Given the description of an element on the screen output the (x, y) to click on. 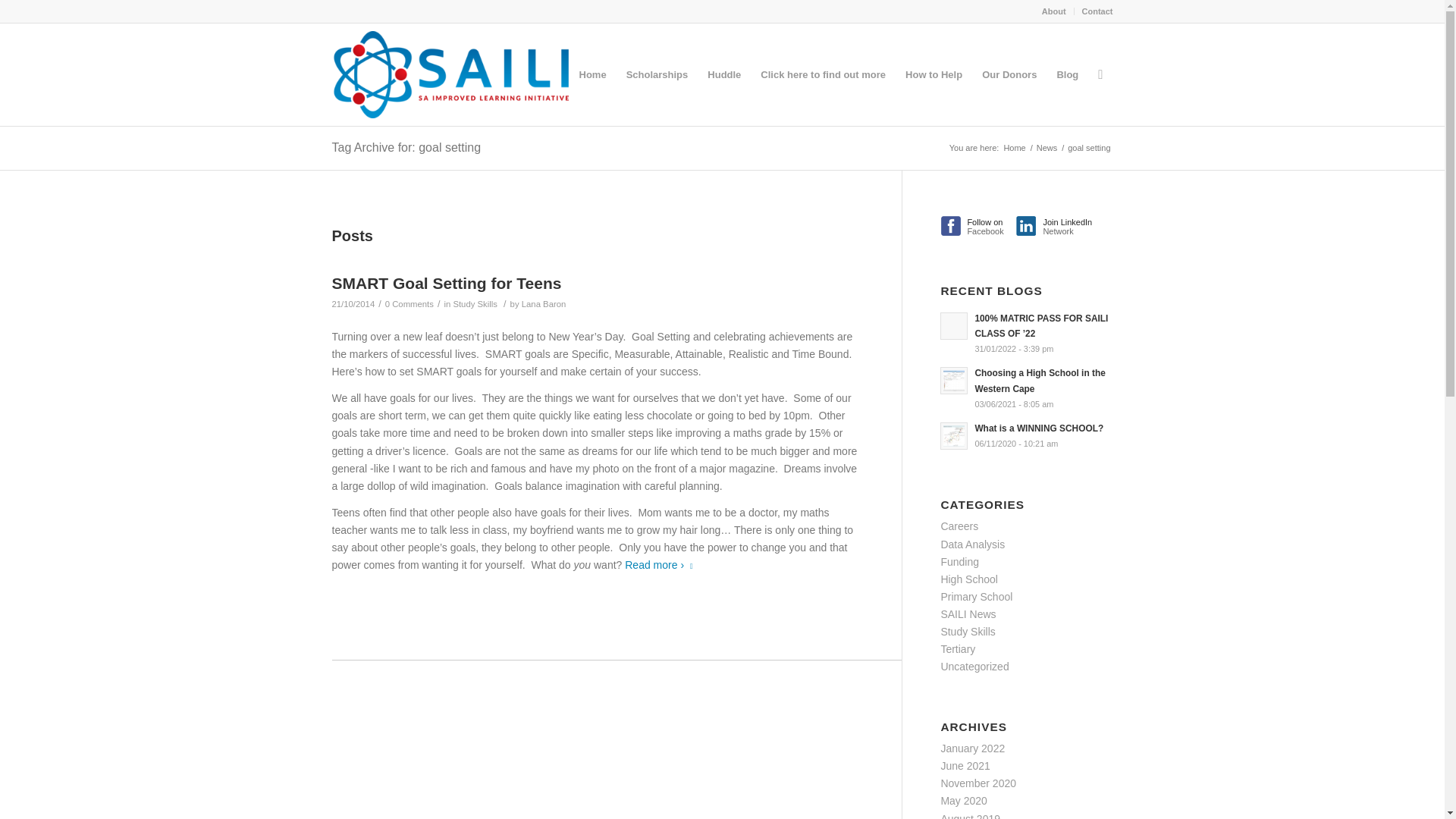
Permanent Link: Tag Archive for: goal setting (406, 146)
Home (1014, 147)
SAILI (1014, 147)
News (978, 227)
What is a WINNING SCHOOL? (1046, 147)
Tag Archive for: goal setting (1026, 435)
Permanent Link: SMART Goal Setting for Teens (406, 146)
0 Comments (1057, 227)
